Given the description of an element on the screen output the (x, y) to click on. 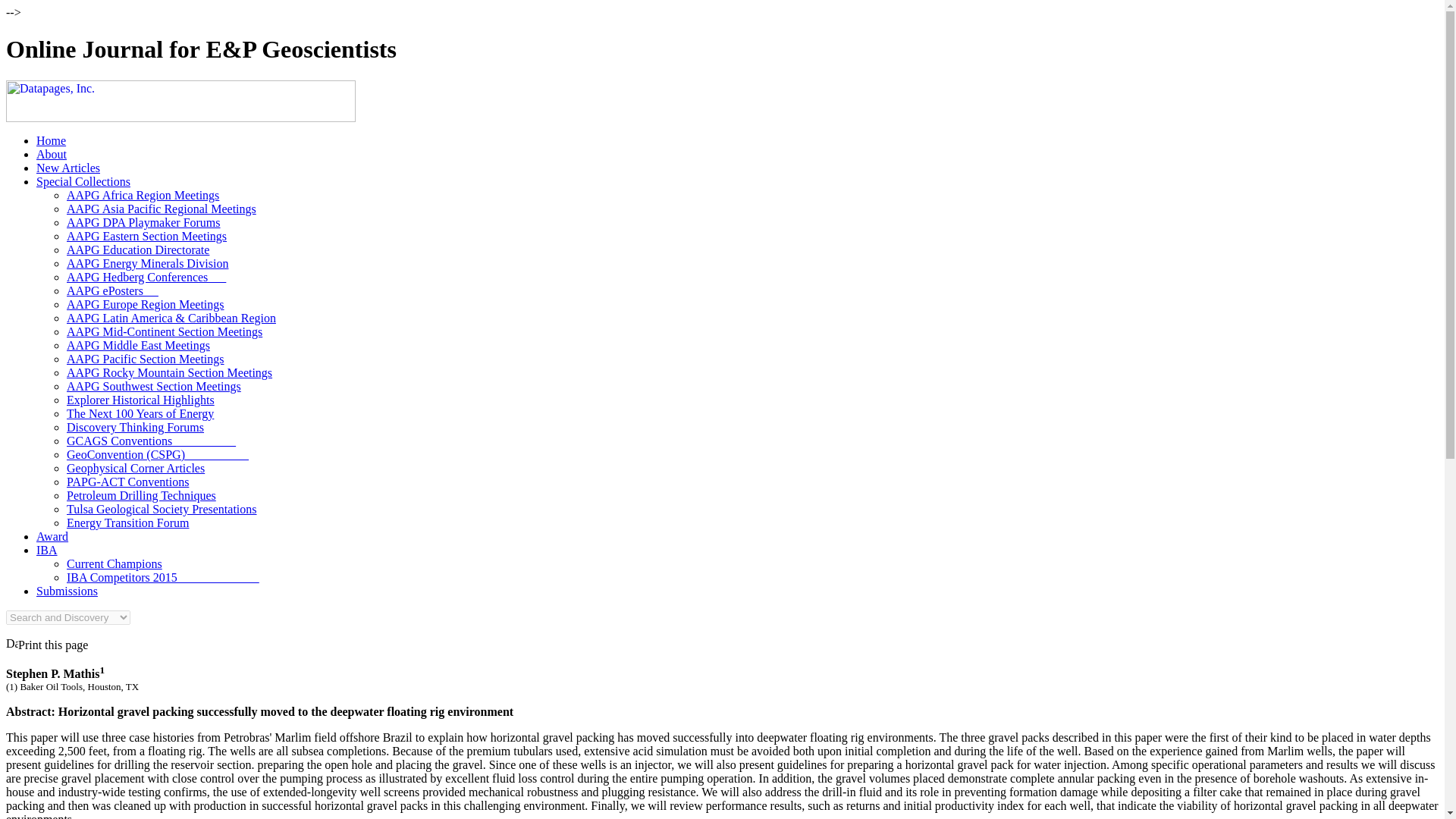
The Next 100 Years of Energy (140, 413)
AAPG Africa Region Meetings (142, 195)
AAPG Education Directorate (137, 249)
AAPG Europe Region Meetings (145, 304)
Special Collections (83, 181)
Discovery Thinking Forums (134, 427)
AAPG Asia Pacific Regional Meetings (161, 208)
Geophysical Corner Articles (135, 468)
Energy Transition Forum (127, 522)
Explorer Historical Highlights (140, 399)
Tulsa Geological Society Presentations (161, 508)
Submissions (66, 590)
New Articles (68, 167)
Print this page (46, 644)
IBA (47, 549)
